Given the description of an element on the screen output the (x, y) to click on. 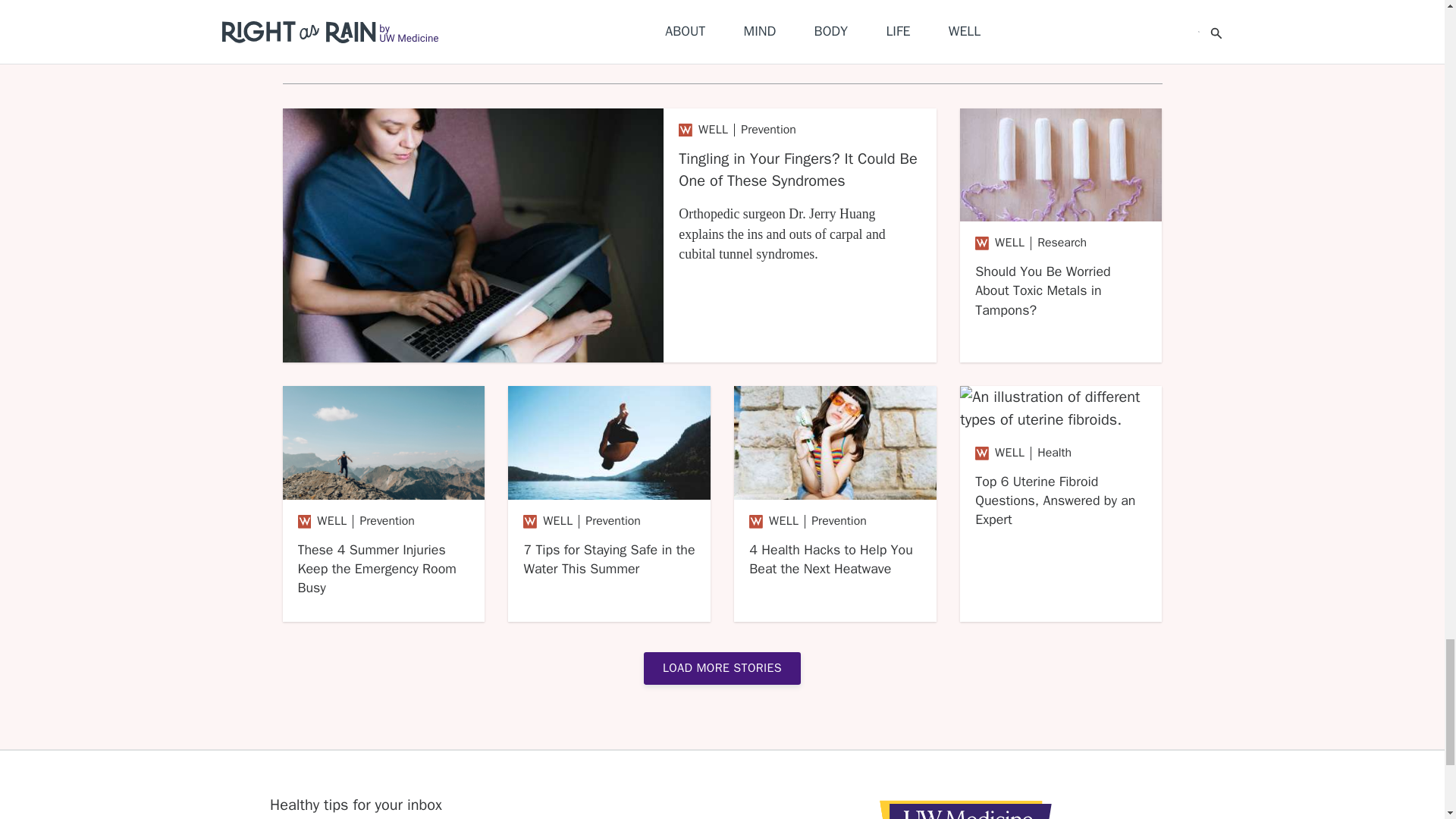
Go to next page (721, 667)
A higher degree of healthcare (965, 806)
